Given the description of an element on the screen output the (x, y) to click on. 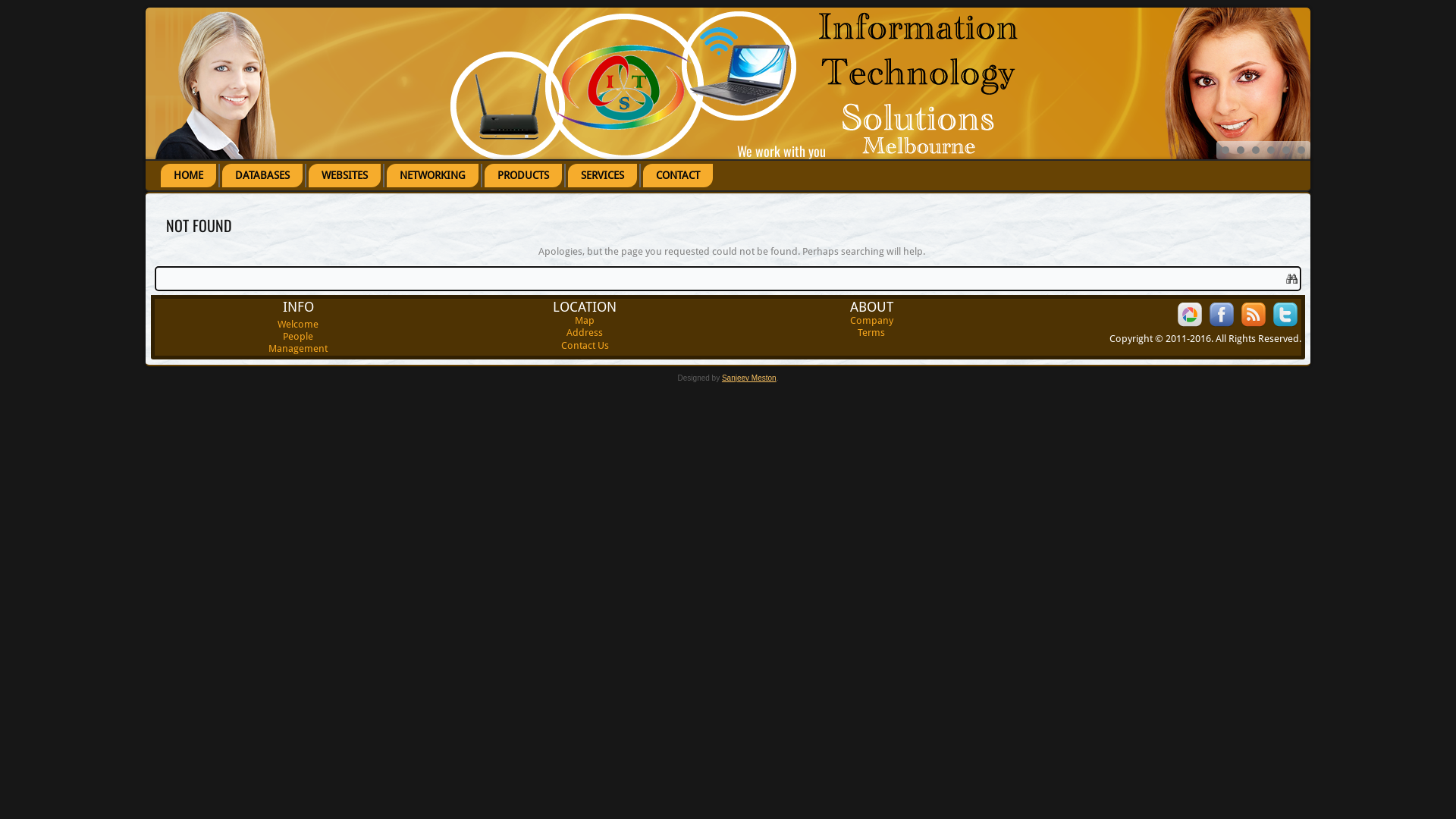
Address Element type: text (584, 332)
Company Element type: text (870, 320)
DATABASES Element type: text (262, 175)
CONTACT Element type: text (677, 175)
HOME Element type: text (188, 175)
NETWORKING Element type: text (432, 175)
PRODUCTS Element type: text (522, 175)
People Element type: text (297, 336)
Sanjeev Meston Element type: text (748, 377)
Welcome Element type: text (297, 323)
Management Element type: text (297, 348)
WEBSITES Element type: text (344, 175)
Terms Element type: text (870, 332)
Contact Us Element type: text (584, 345)
SERVICES Element type: text (602, 175)
Map Element type: text (584, 320)
